Given the description of an element on the screen output the (x, y) to click on. 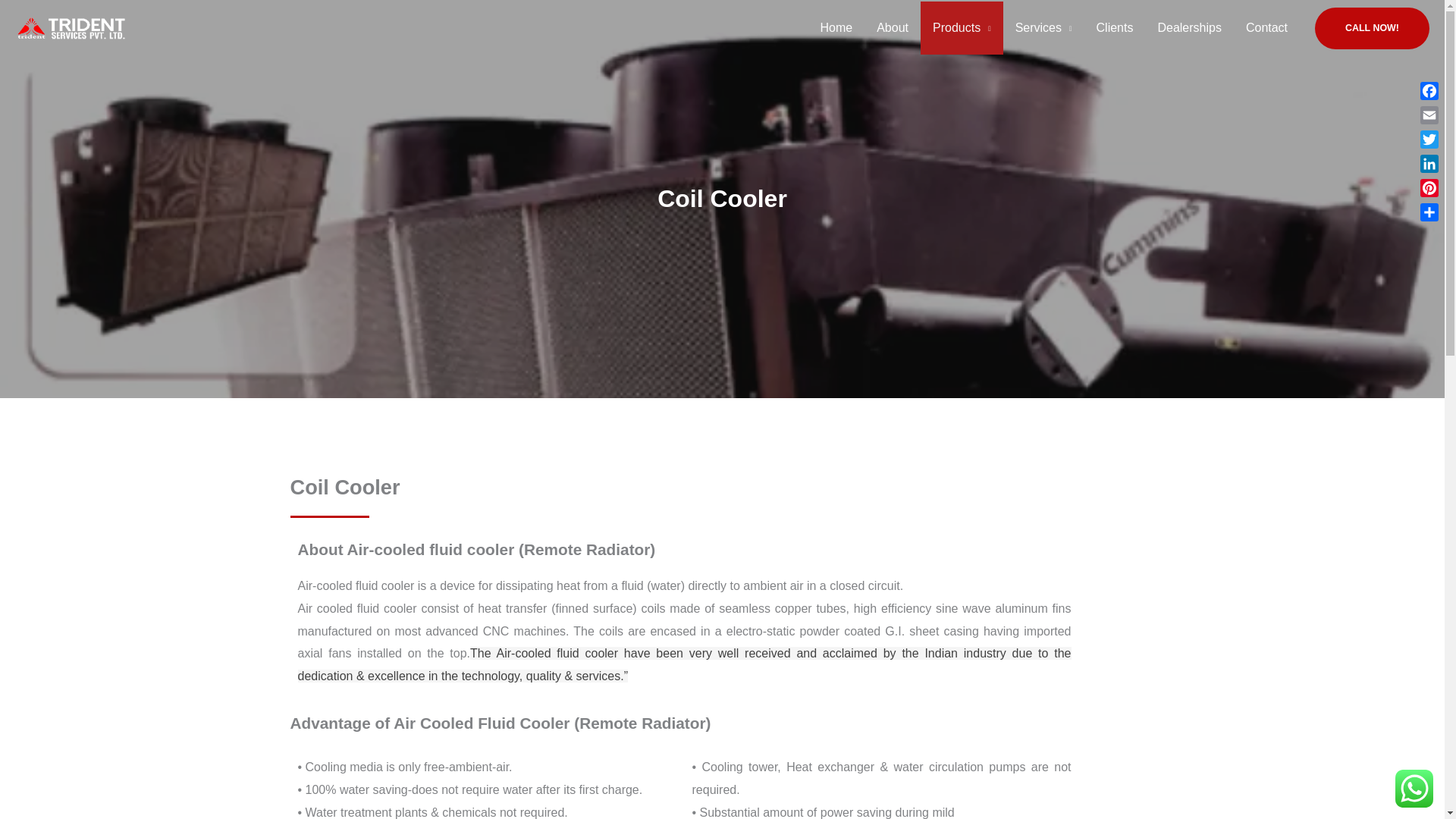
Clients (1114, 27)
Pinterest (1428, 187)
Twitter (1428, 139)
Dealerships (1188, 27)
CALL NOW! (1371, 28)
Services (1043, 27)
Email (1428, 115)
Home (836, 27)
Facebook (1428, 90)
About (892, 27)
